Given the description of an element on the screen output the (x, y) to click on. 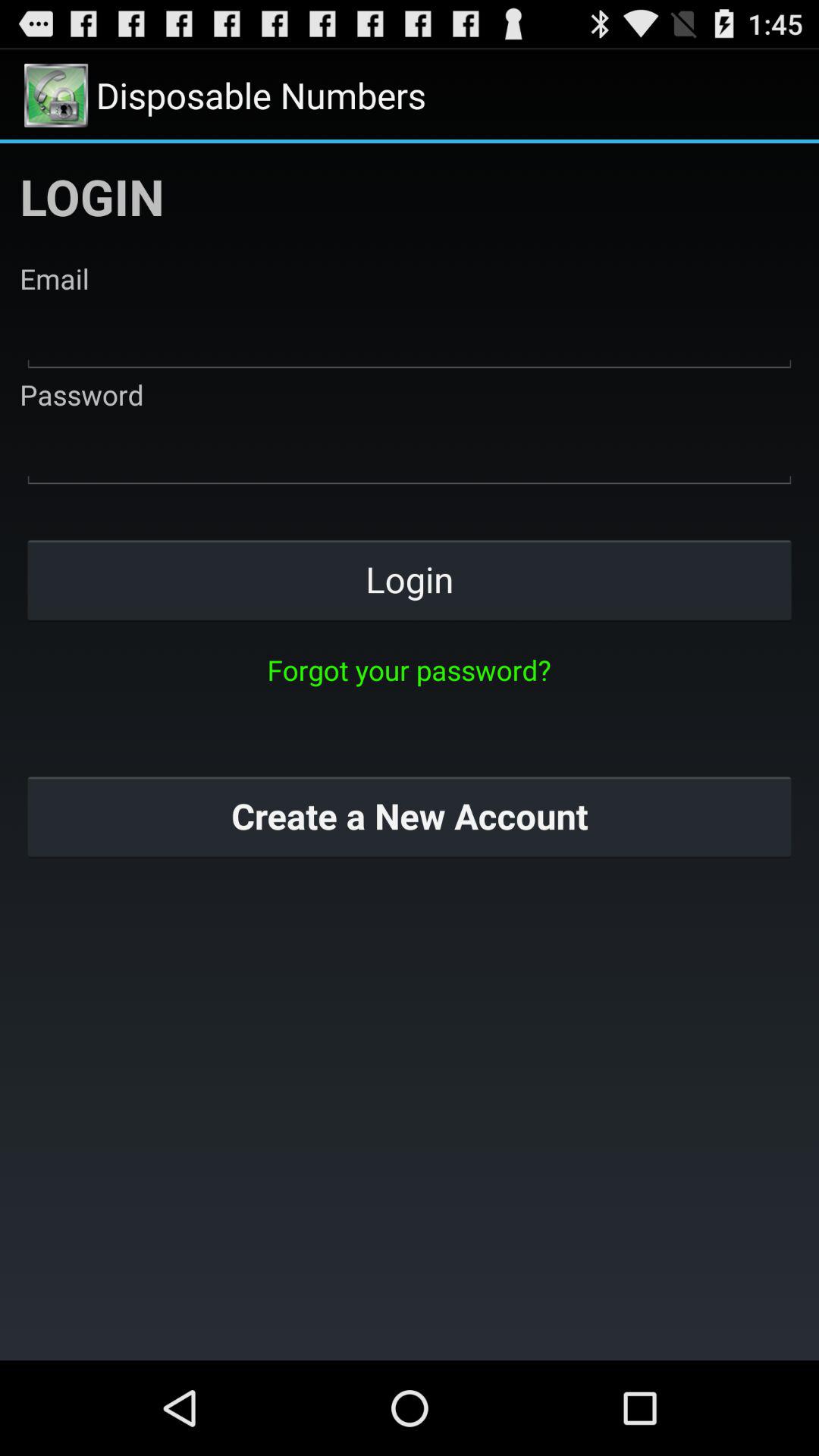
select the item above create a new (409, 669)
